Given the description of an element on the screen output the (x, y) to click on. 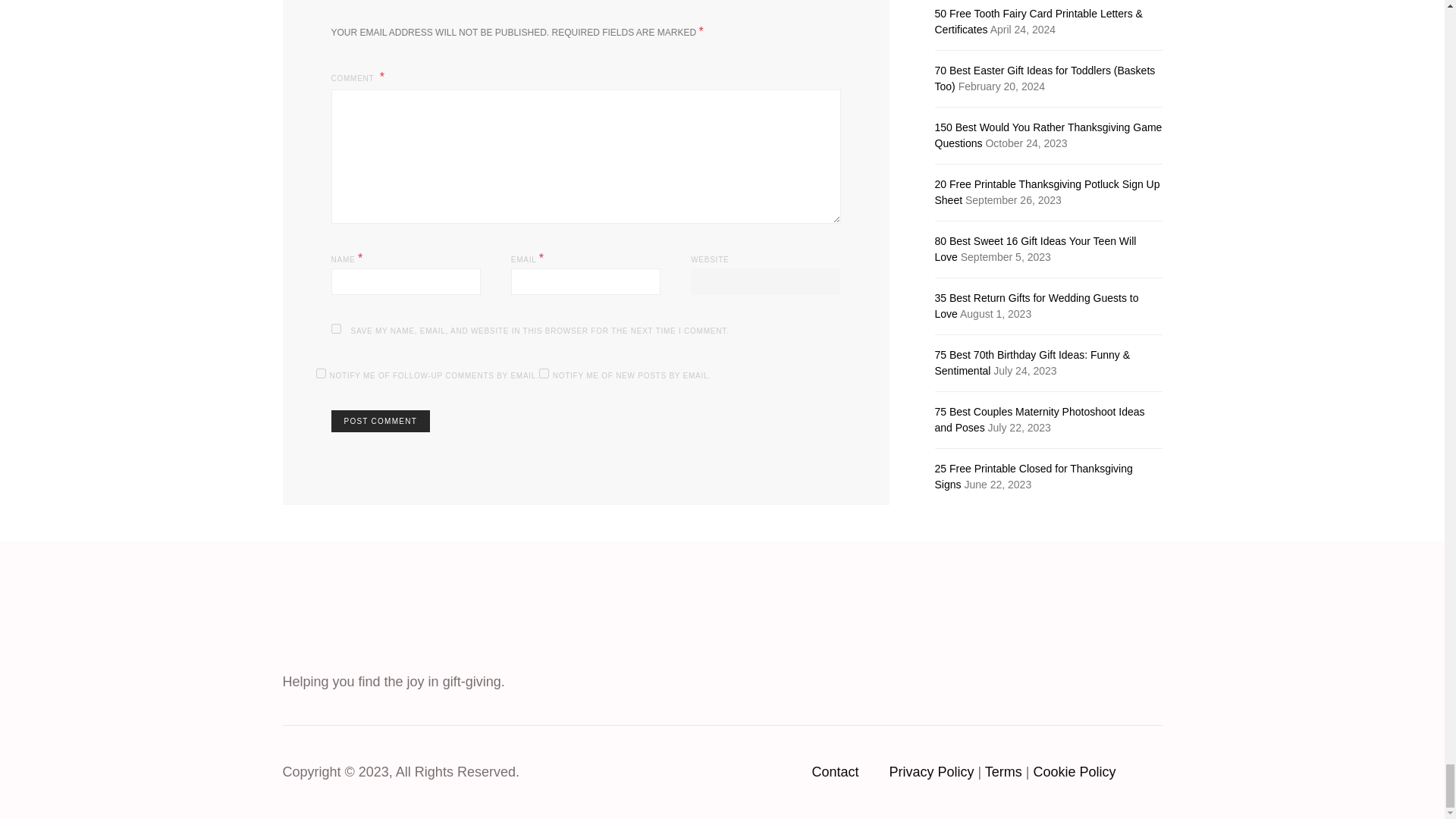
subscribe (319, 373)
yes (335, 328)
Post Comment (379, 421)
subscribe (543, 373)
